Given the description of an element on the screen output the (x, y) to click on. 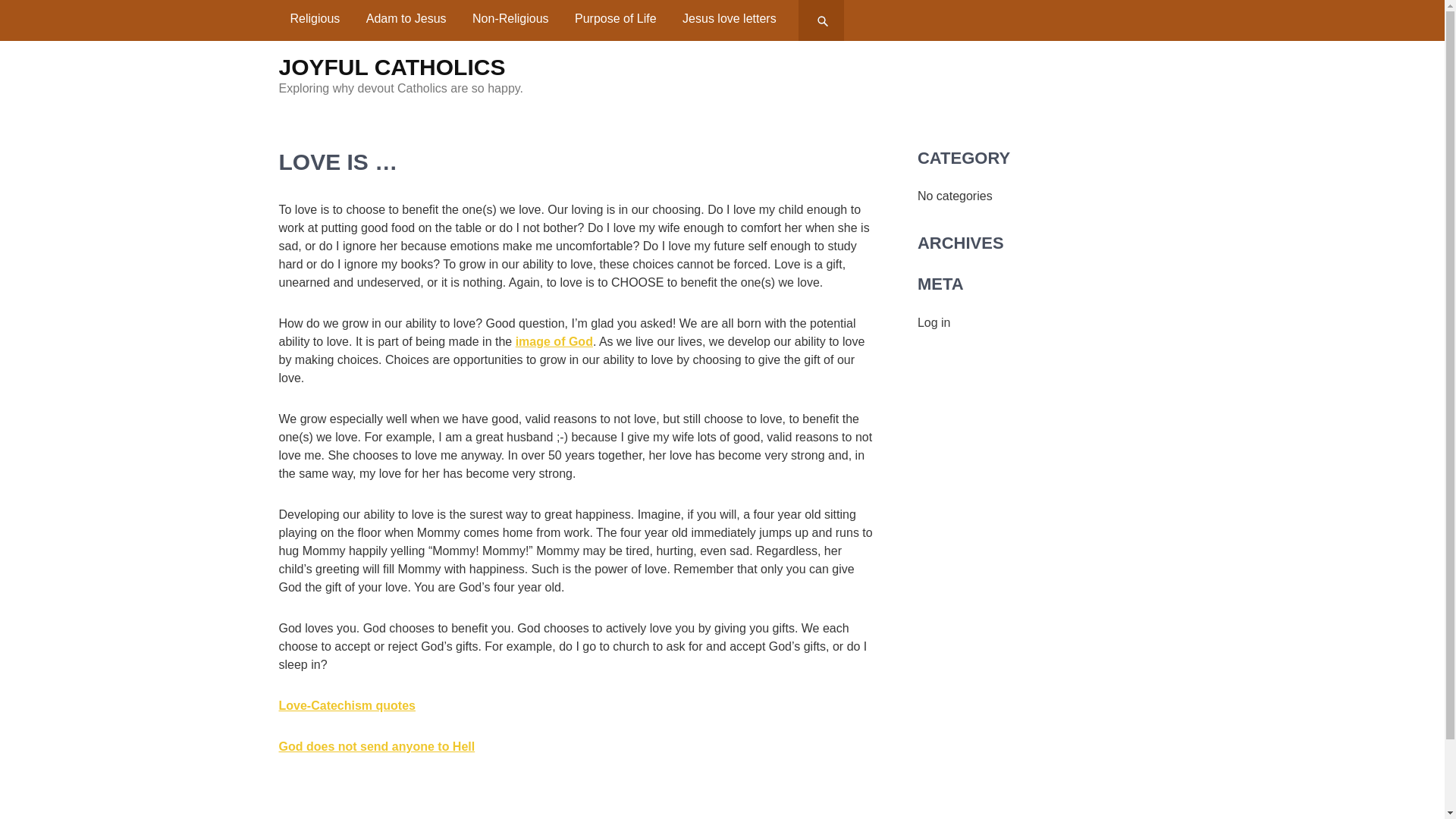
Search (823, 20)
Religious (315, 18)
Search (823, 20)
